Given the description of an element on the screen output the (x, y) to click on. 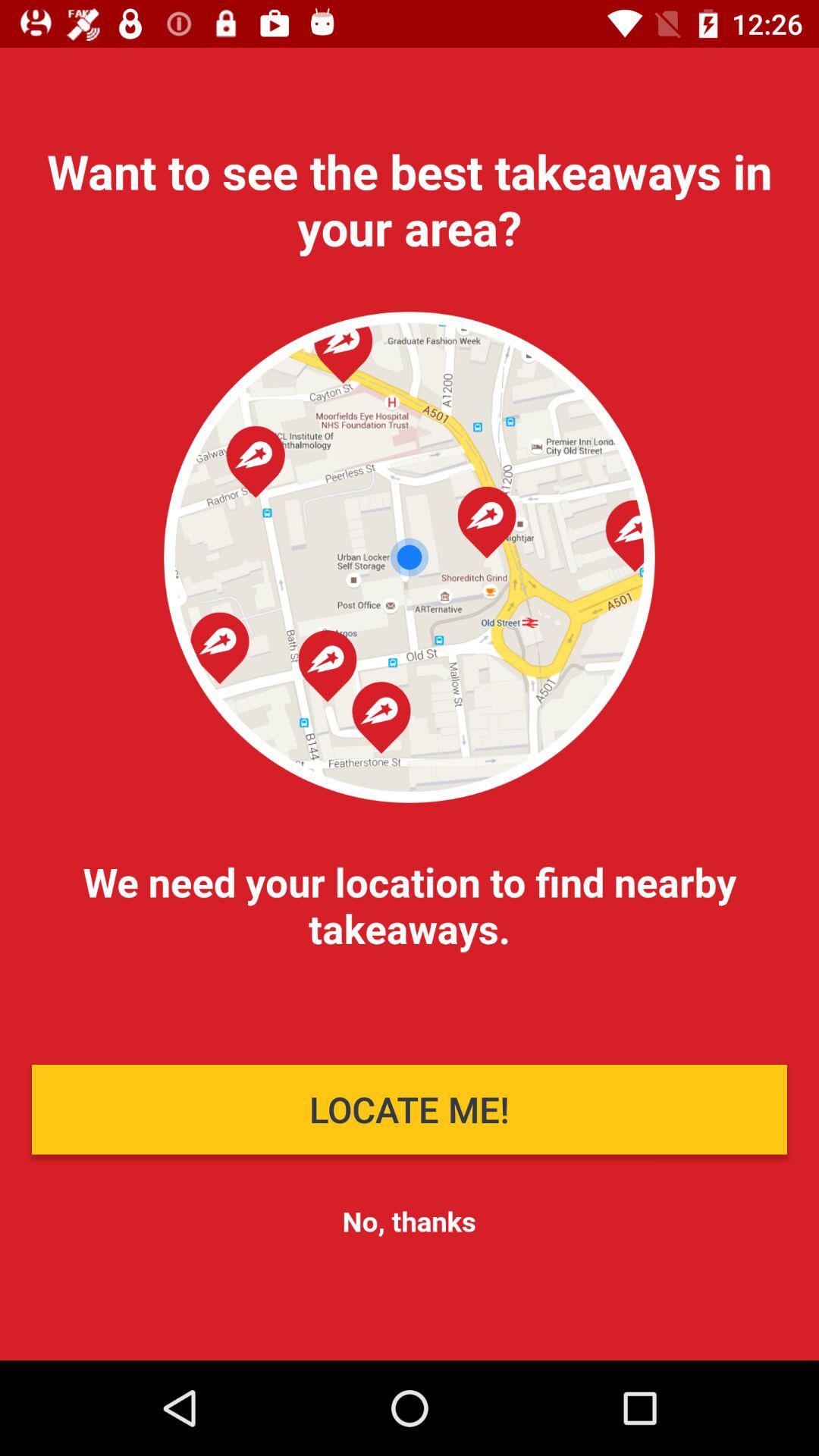
turn off locate me! icon (409, 1109)
